Given the description of an element on the screen output the (x, y) to click on. 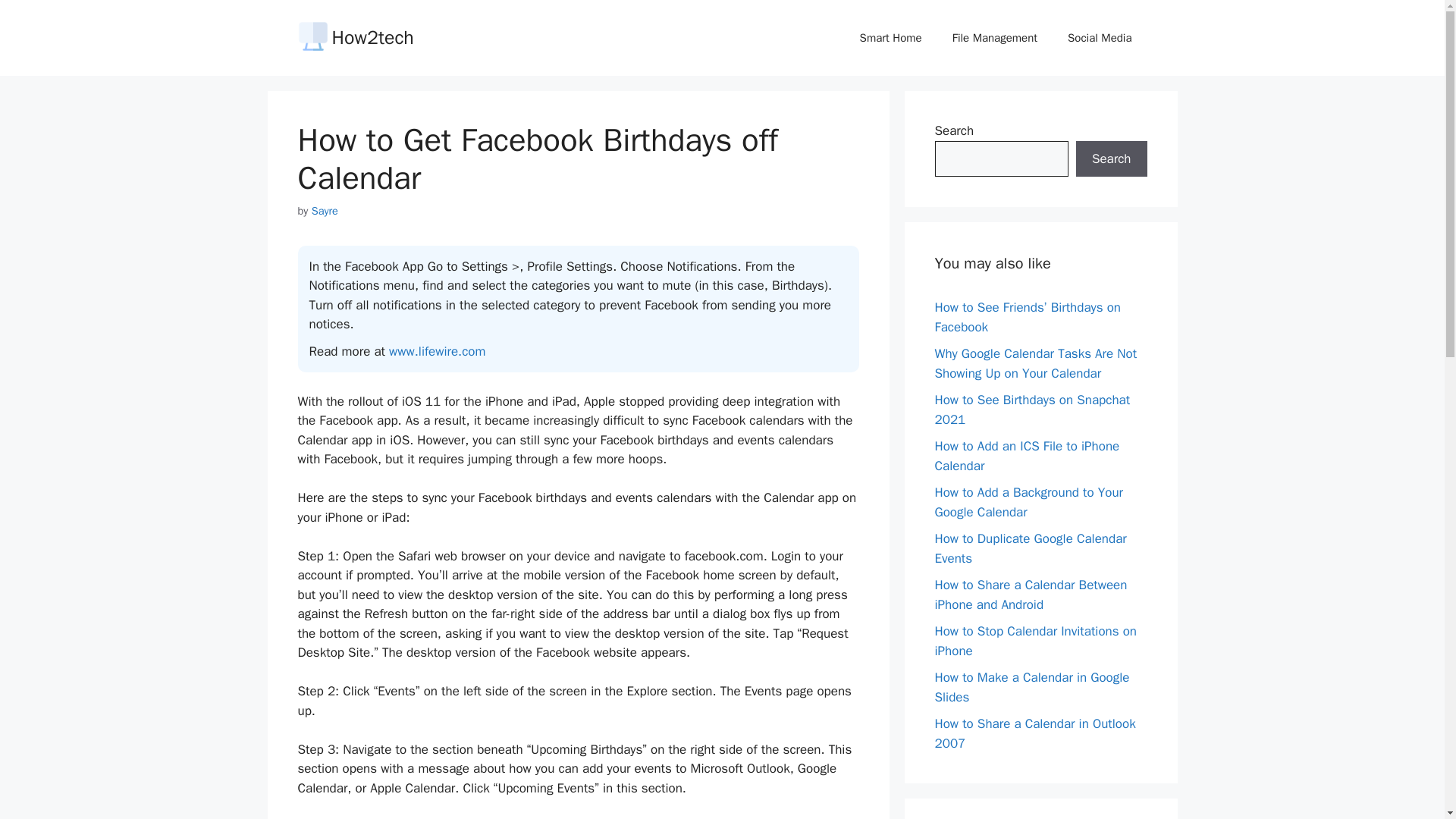
How to Share a Calendar in Outlook 2007 (1034, 733)
View all posts by Sayre (324, 210)
Search (1111, 158)
How to Share a Calendar Between iPhone and Android (1030, 594)
Smart Home (890, 37)
www.lifewire.com (436, 351)
How to See Birthdays on Snapchat 2021 (1031, 409)
How to Stop Calendar Invitations on iPhone (1034, 641)
How2tech (372, 37)
File Management (994, 37)
How to Duplicate Google Calendar Events (1029, 548)
How to Add a Background to Your Google Calendar (1028, 502)
How to Make a Calendar in Google Slides (1031, 687)
Sayre (324, 210)
